Given the description of an element on the screen output the (x, y) to click on. 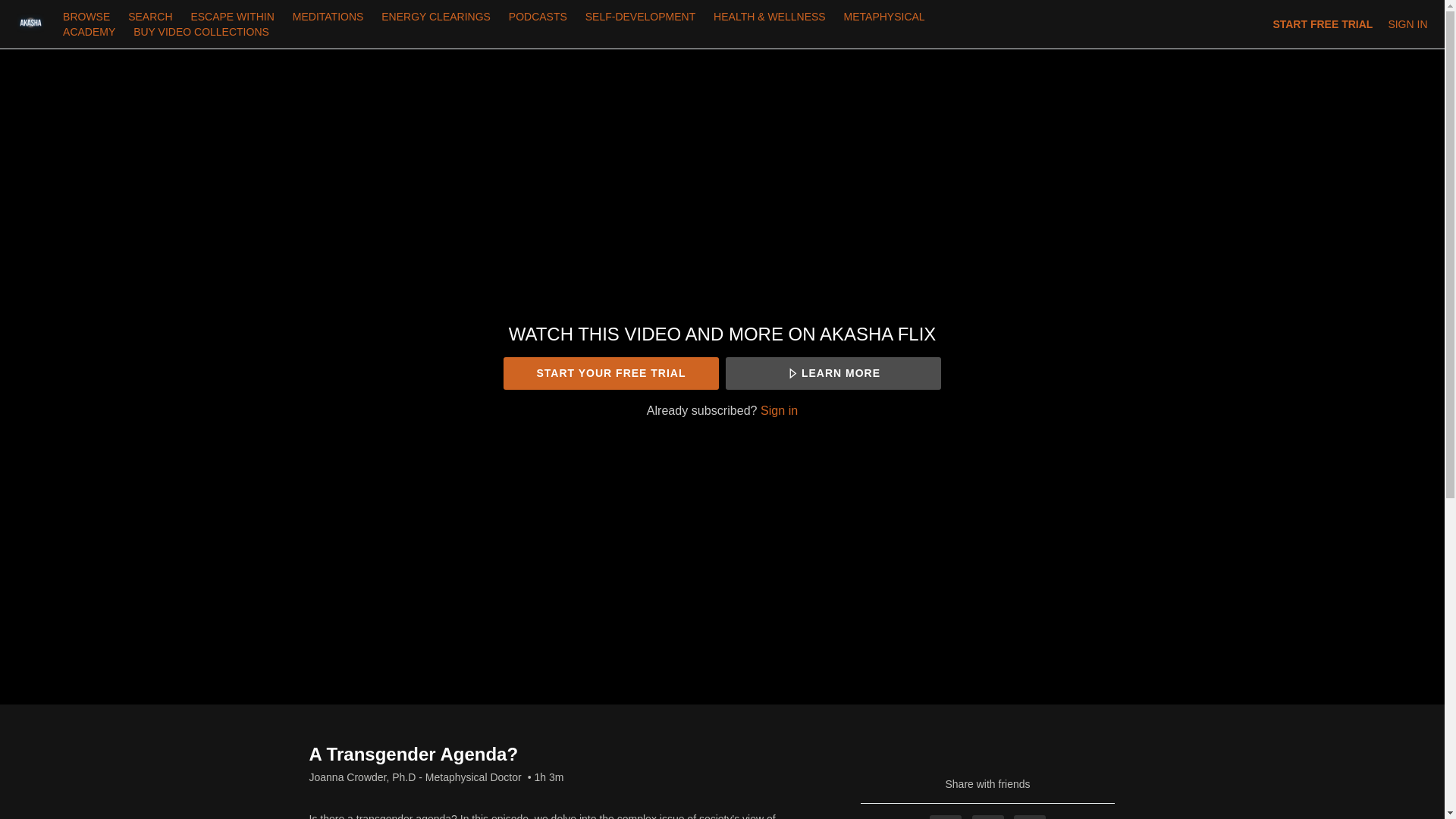
SIGN IN (1406, 24)
METAPHYSICAL (884, 16)
START YOUR FREE TRIAL (610, 373)
Twitter (988, 816)
BROWSE (87, 16)
SEARCH (151, 16)
ESCAPE WITHIN (232, 16)
Sign in (778, 409)
START FREE TRIAL (1322, 24)
PODCASTS (537, 16)
